Given the description of an element on the screen output the (x, y) to click on. 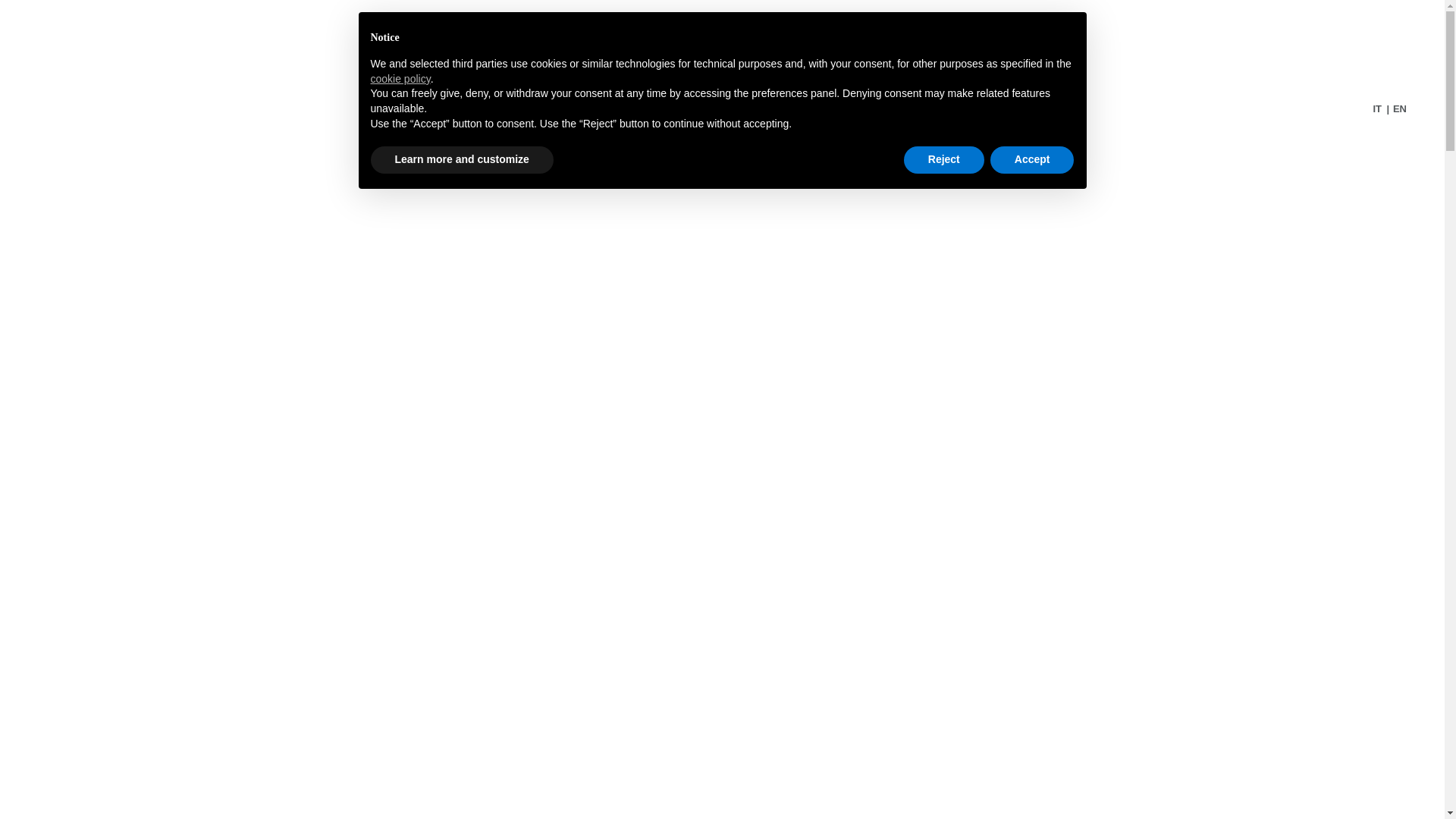
cookie policy (399, 78)
MASOTTINA (877, 109)
CONTACTS (980, 109)
SUSTAINABILITY (681, 109)
TERRITORY (561, 109)
ABOUT US (460, 109)
WINES (787, 109)
